Given the description of an element on the screen output the (x, y) to click on. 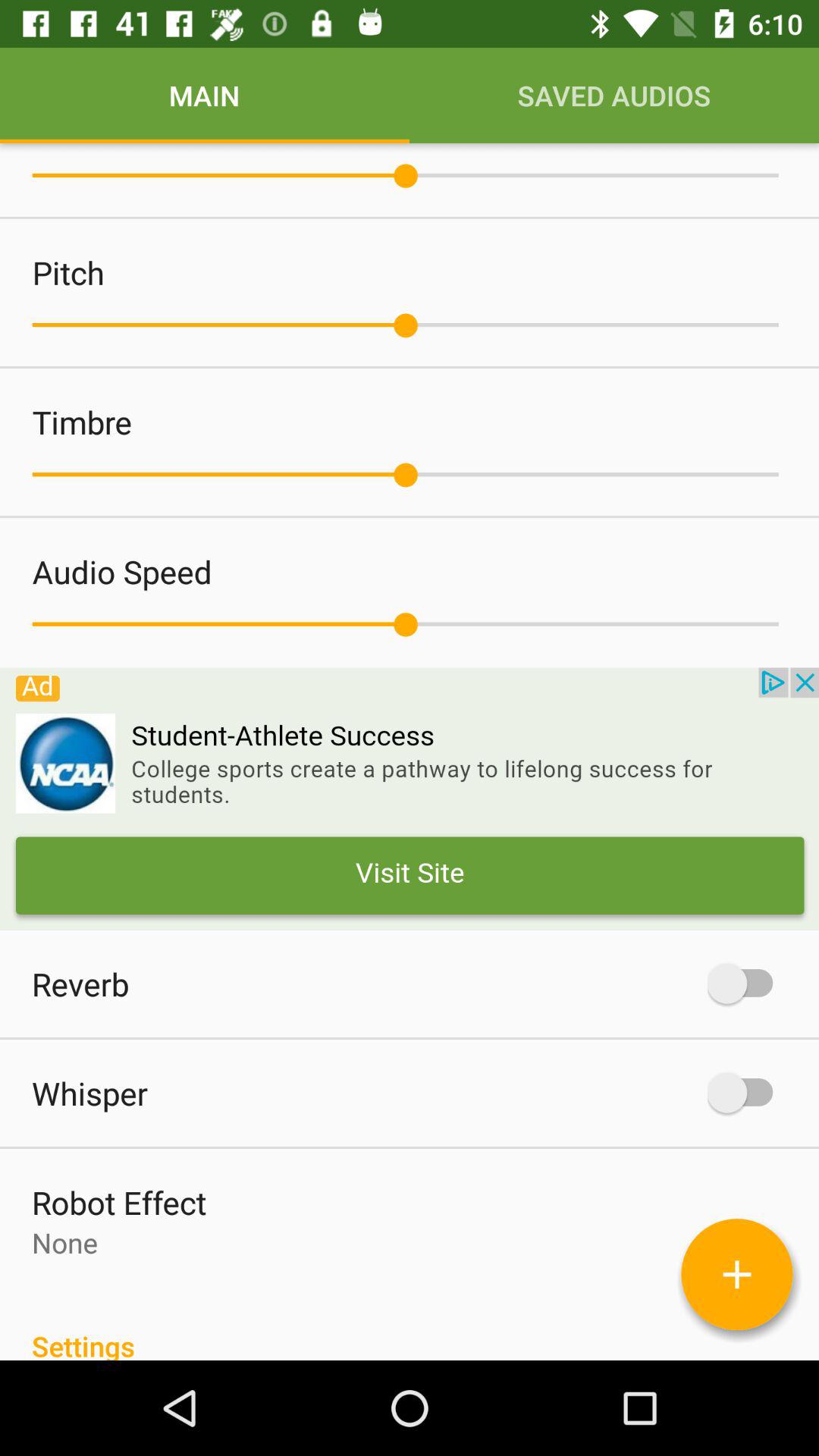
add more (737, 1274)
